Given the description of an element on the screen output the (x, y) to click on. 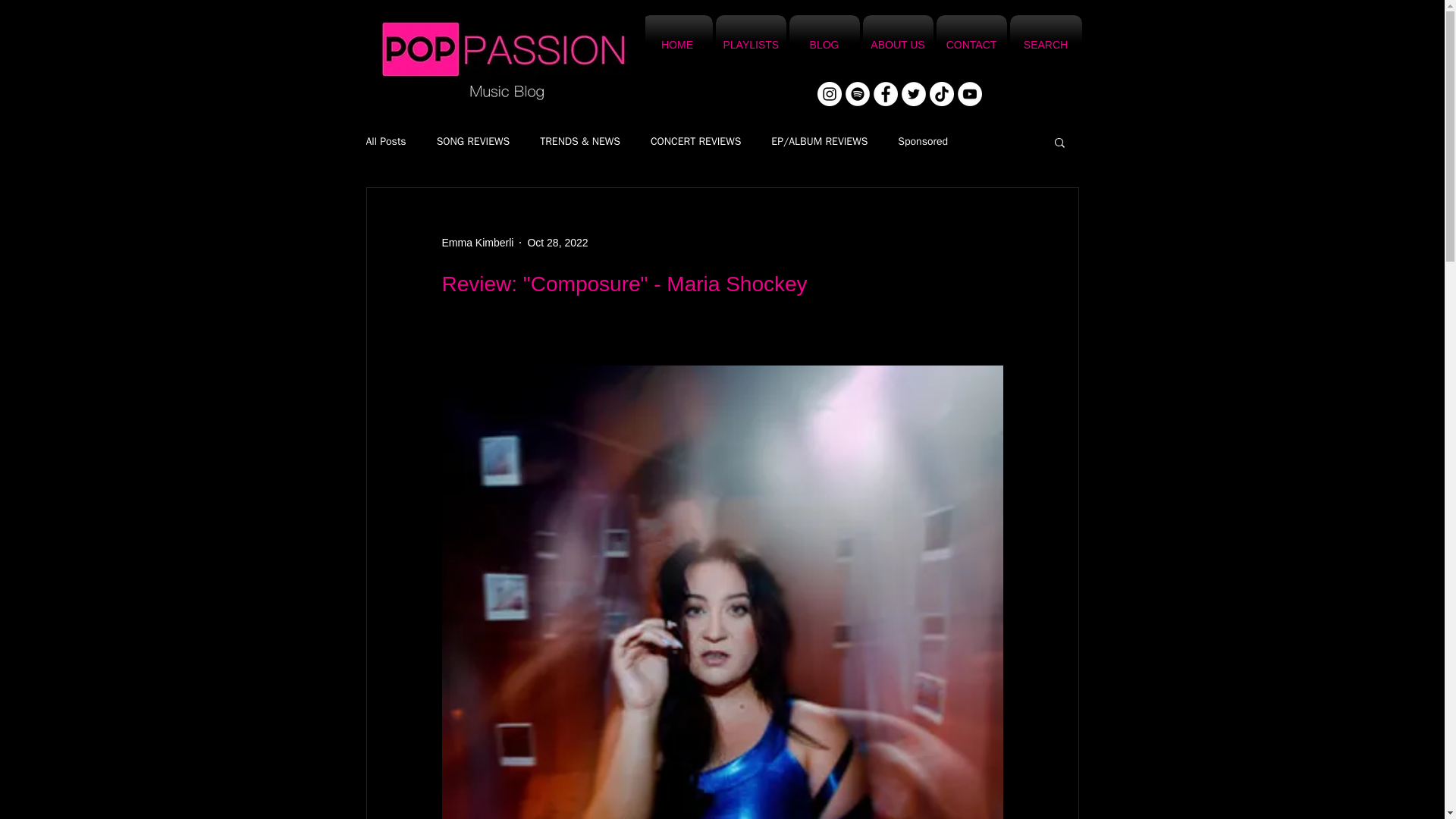
SEARCH (1045, 44)
Oct 28, 2022 (557, 242)
Emma Kimberli (477, 242)
HOME (676, 44)
ABOUT US (897, 44)
BLOG (823, 44)
PLAYLISTS (750, 44)
CONCERT REVIEWS (695, 141)
All Posts (385, 141)
SONG REVIEWS (473, 141)
CONTACT (970, 44)
Sponsored (922, 141)
